Given the description of an element on the screen output the (x, y) to click on. 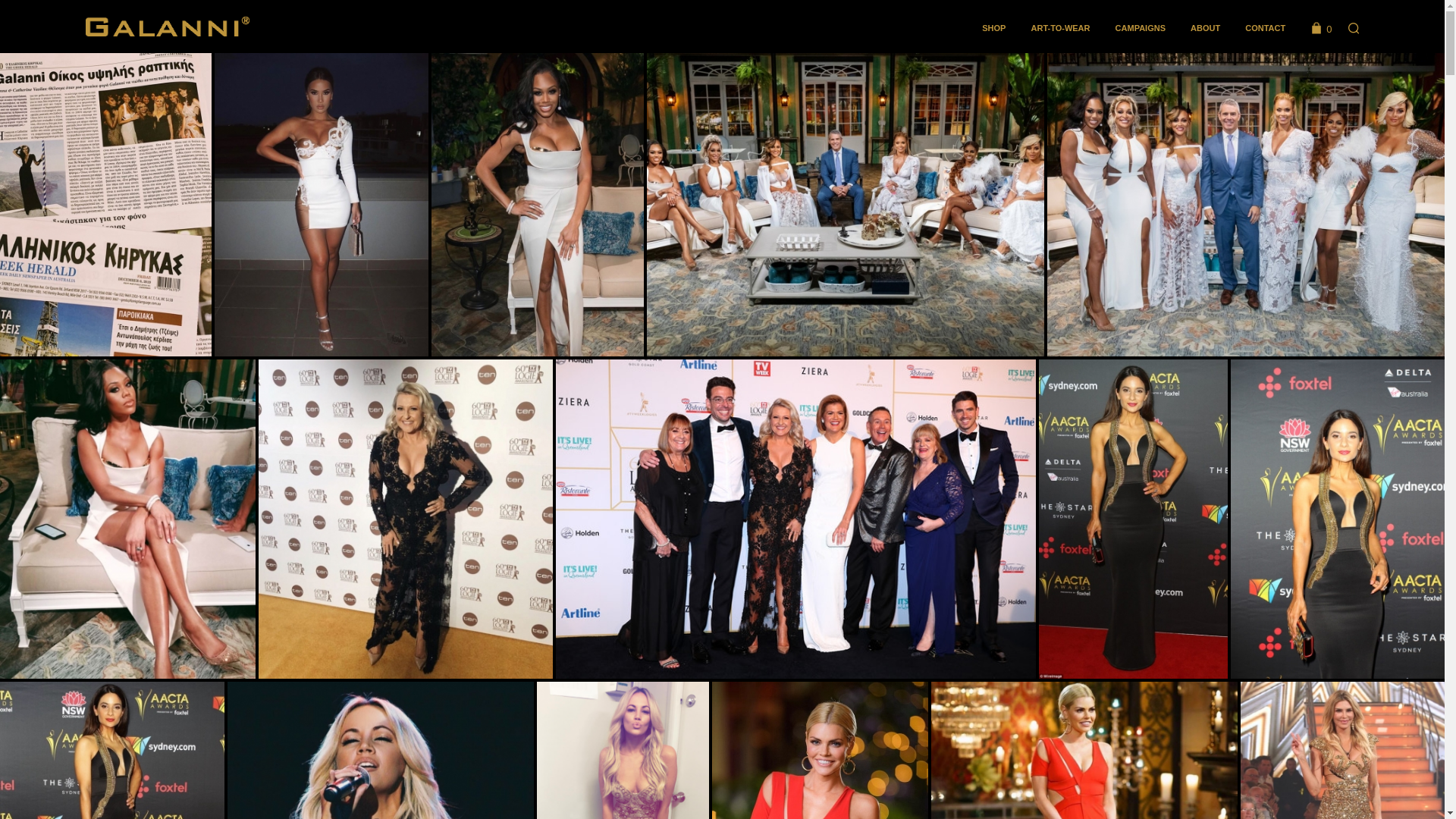
ART-TO-WEAR Element type: text (1060, 28)
GALANNI | Official Website and Online Boutique Element type: hover (166, 26)
SHOP Element type: text (993, 28)
CAMPAIGNS Element type: text (1140, 28)
CONTACT Element type: text (1264, 28)
0 Element type: text (1319, 27)
Search Element type: text (1417, 659)
ABOUT Element type: text (1205, 28)
